Given the description of an element on the screen output the (x, y) to click on. 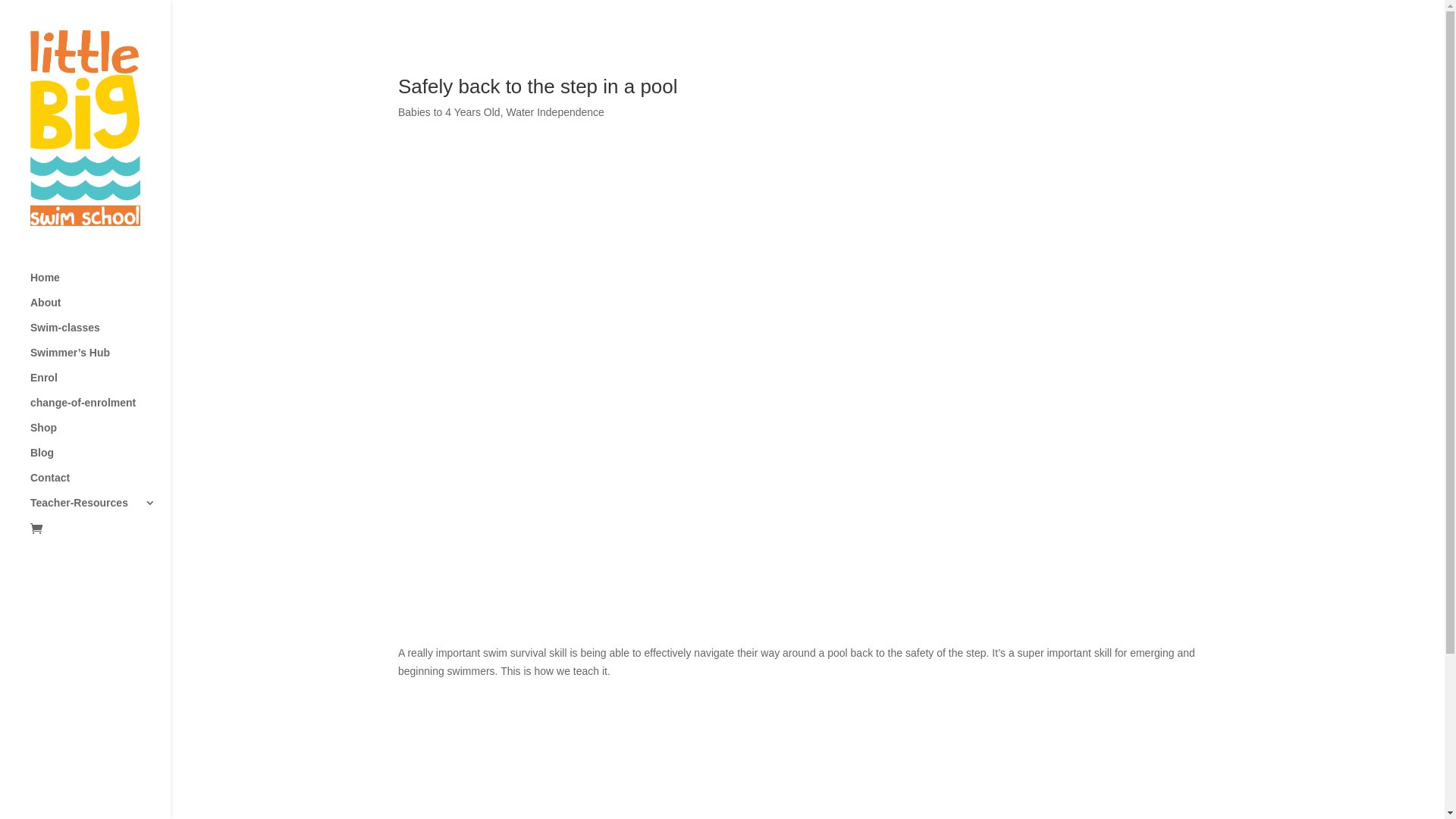
Learn to Swim | Monkey To The Exit Element type: hover (807, 402)
Blog Element type: text (100, 459)
Swim-classes Element type: text (100, 334)
Home Element type: text (100, 284)
Water Independence Element type: text (554, 112)
Contact Element type: text (100, 484)
Shop Element type: text (100, 434)
Babies to 4 Years Old Element type: text (449, 112)
Teacher-Resources Element type: text (100, 509)
Enrol Element type: text (100, 384)
About Element type: text (100, 309)
change-of-enrolment Element type: text (100, 409)
